Given the description of an element on the screen output the (x, y) to click on. 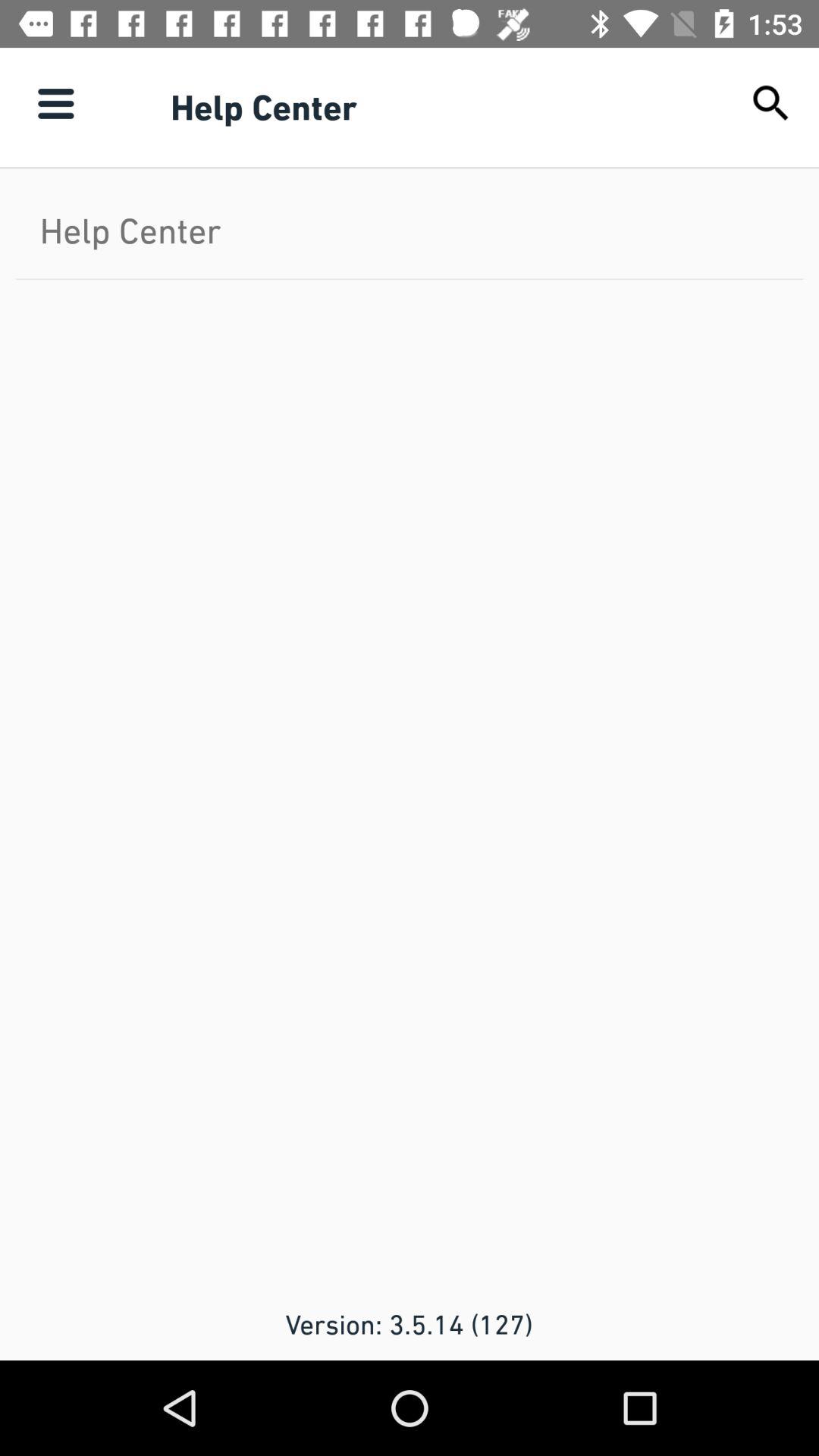
choose the icon to the right of the help center item (771, 103)
